Given the description of an element on the screen output the (x, y) to click on. 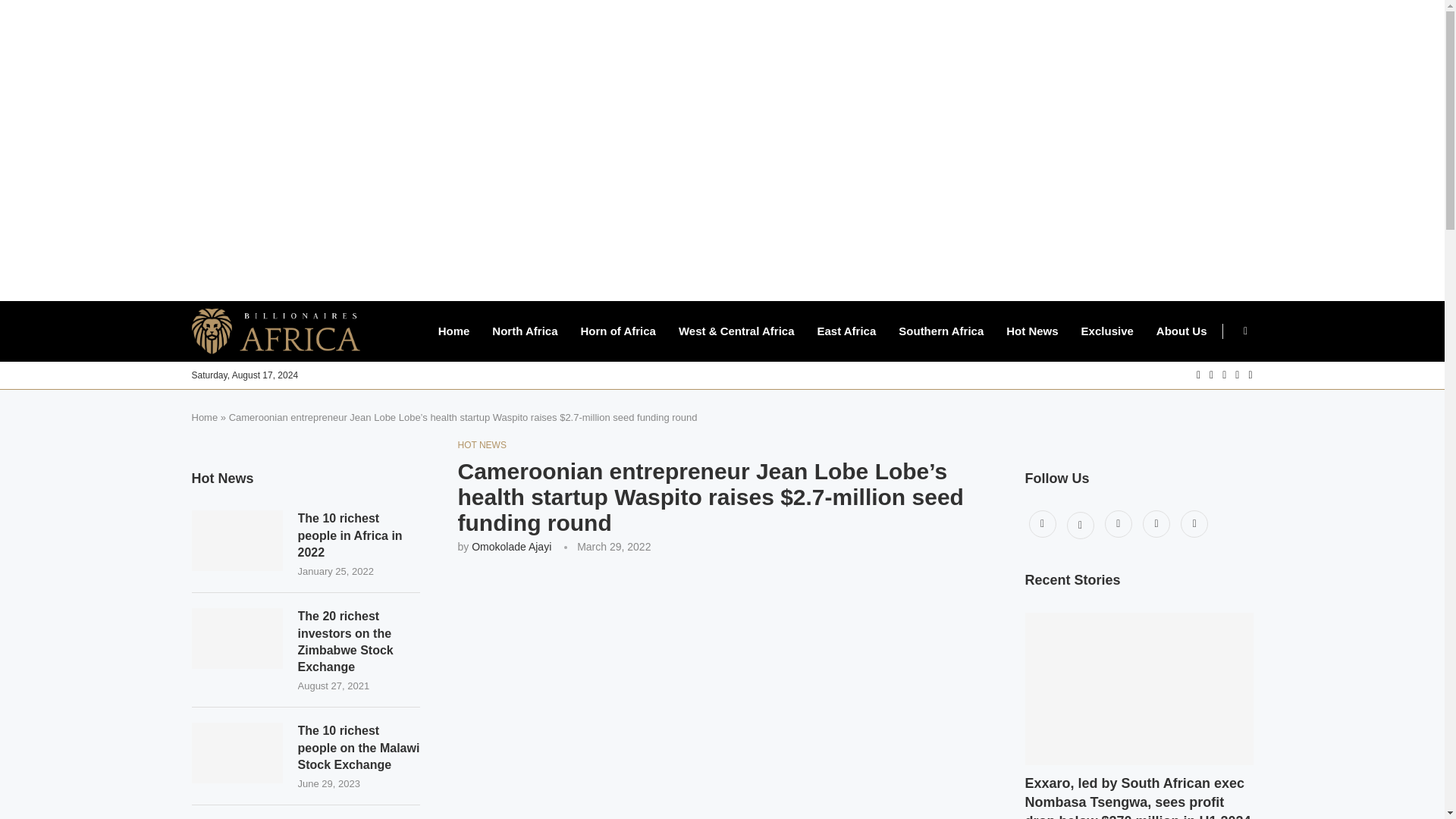
Exclusive (1107, 330)
Horn of Africa (617, 330)
Hot News (1032, 330)
Southern Africa (941, 330)
East Africa (846, 330)
About Us (1181, 330)
North Africa (524, 330)
Jean Lobe Lobe (722, 695)
